Given the description of an element on the screen output the (x, y) to click on. 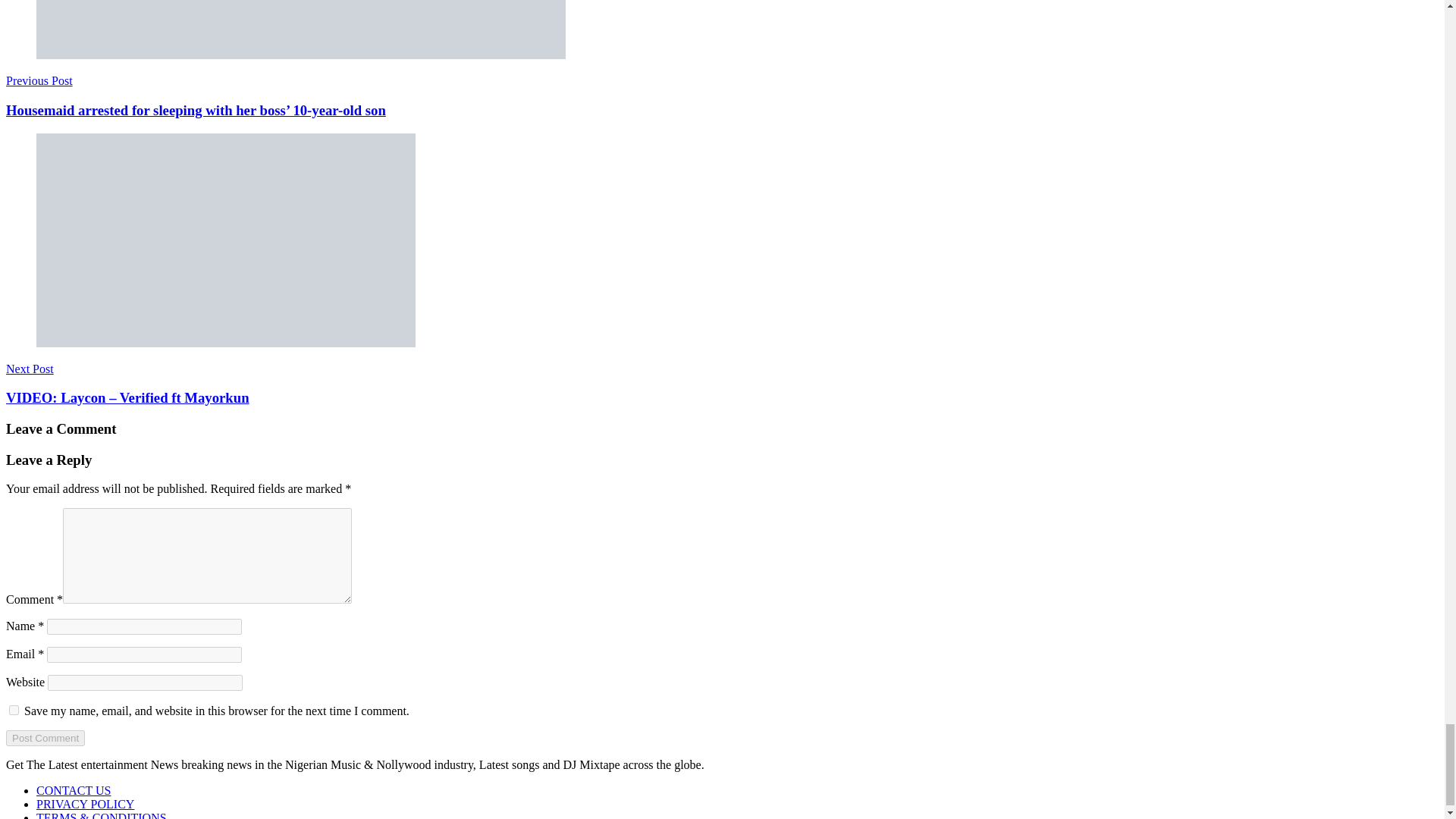
yes (13, 709)
Post Comment (44, 738)
